Given the description of an element on the screen output the (x, y) to click on. 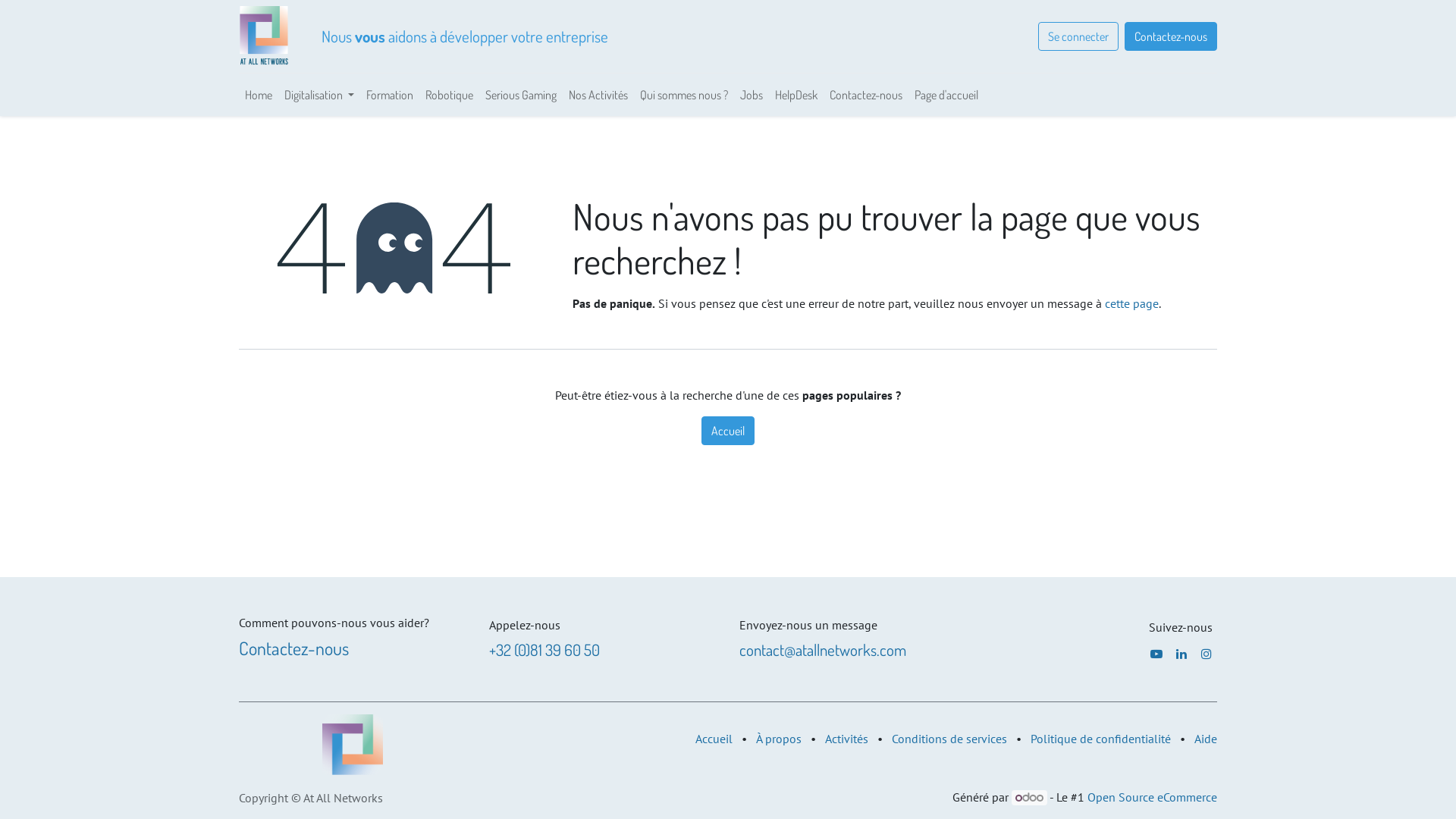
Jobs Element type: text (751, 94)
Accueil Element type: text (727, 430)
Home Element type: text (258, 94)
At All Networks Element type: hover (264, 36)
Digitalisation Element type: text (319, 94)
Serious Gaming Element type: text (520, 94)
contact@atallnetworks.com Element type: text (822, 649)
Contactez-nous Element type: text (865, 94)
Contactez-nous Element type: text (293, 646)
Robotique Element type: text (449, 94)
Aide Element type: text (1205, 738)
HelpDesk Element type: text (795, 94)
Page d'accueil Element type: text (946, 94)
Formation Element type: text (389, 94)
Se connecter Element type: text (1078, 35)
+32 (0)81 39 60 50 Element type: text (544, 649)
Qui sommes nous ? Element type: text (683, 94)
Contactez-nous Element type: text (1170, 35)
cette page Element type: text (1131, 302)
Open Source eCommerce Element type: text (1152, 796)
MyCompany Element type: hover (352, 744)
Accueil Element type: text (713, 738)
Conditions de services Element type: text (949, 738)
